Given the description of an element on the screen output the (x, y) to click on. 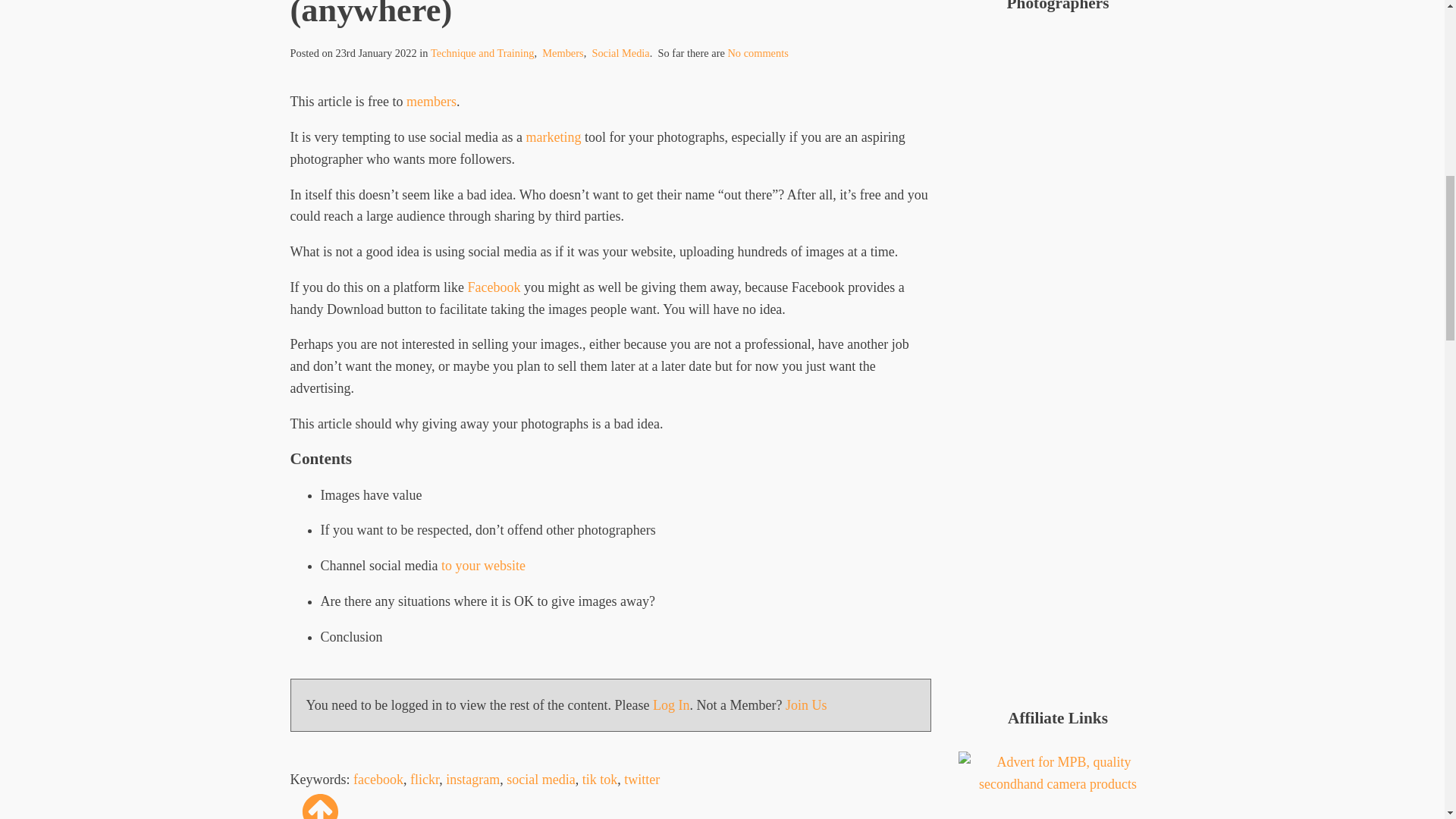
Technique and Training (482, 52)
MPB Advert (1057, 761)
